Given the description of an element on the screen output the (x, y) to click on. 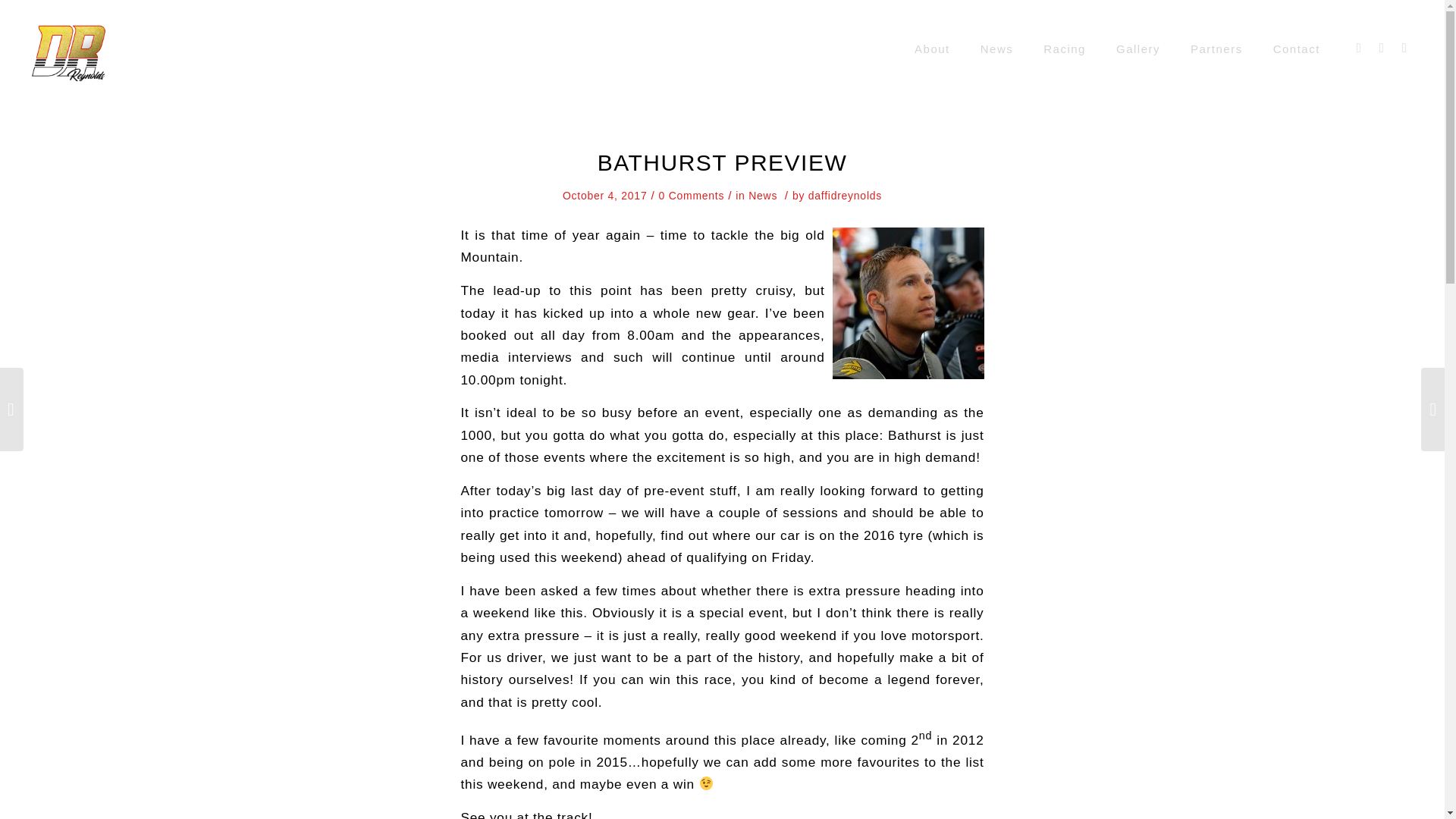
Facebook (1359, 47)
Racing (1063, 49)
BATHURST PREVIEW (721, 162)
About (932, 49)
Partners (1215, 49)
News (762, 195)
0 Comments (690, 195)
Gallery (1137, 49)
daffidreynolds (845, 195)
Posts by daffidreynolds (845, 195)
